Given the description of an element on the screen output the (x, y) to click on. 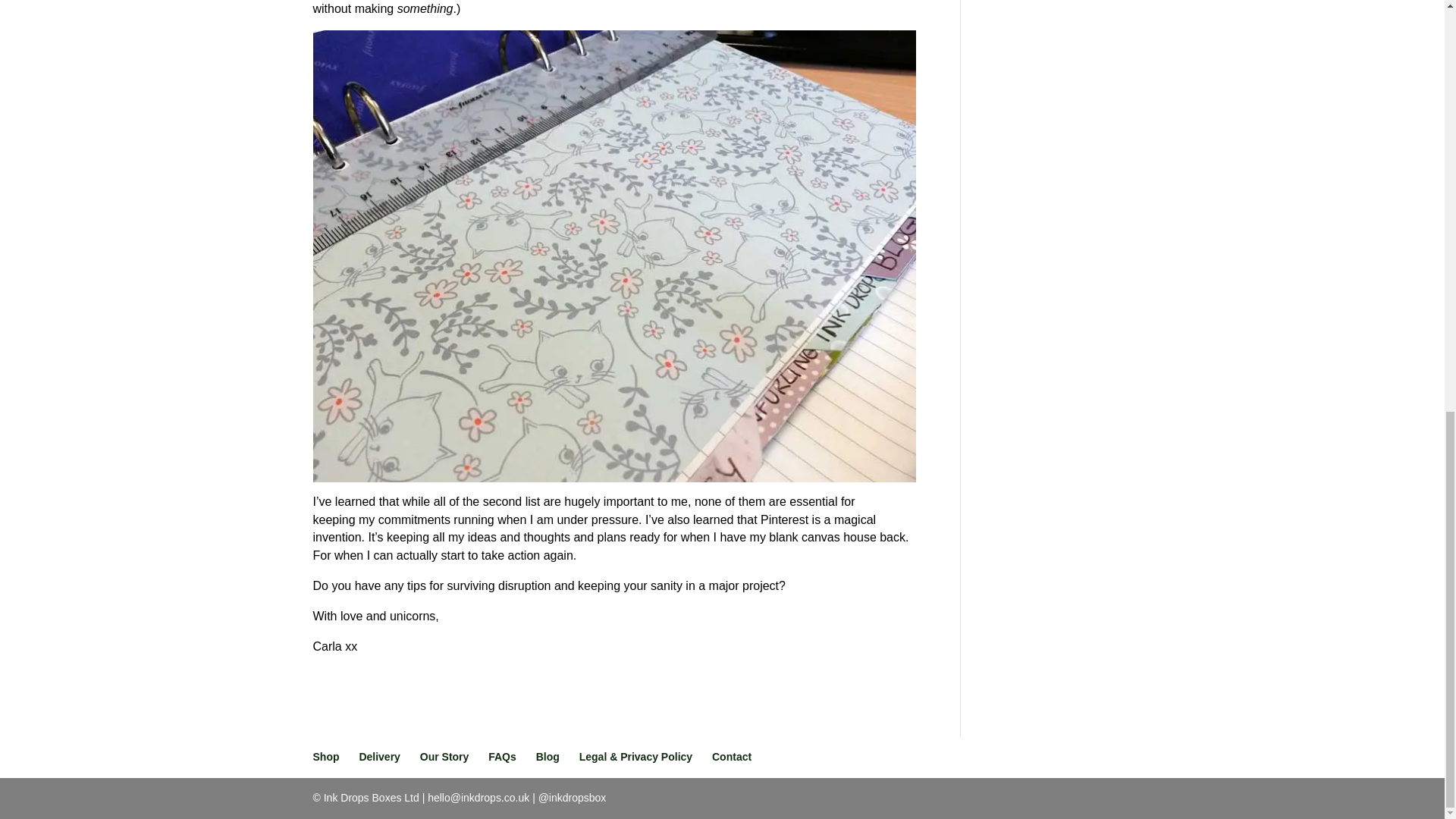
Our Story (444, 756)
FAQs (501, 756)
Delivery (378, 756)
Shop (326, 756)
Blog (547, 756)
Contact (731, 756)
